Given the description of an element on the screen output the (x, y) to click on. 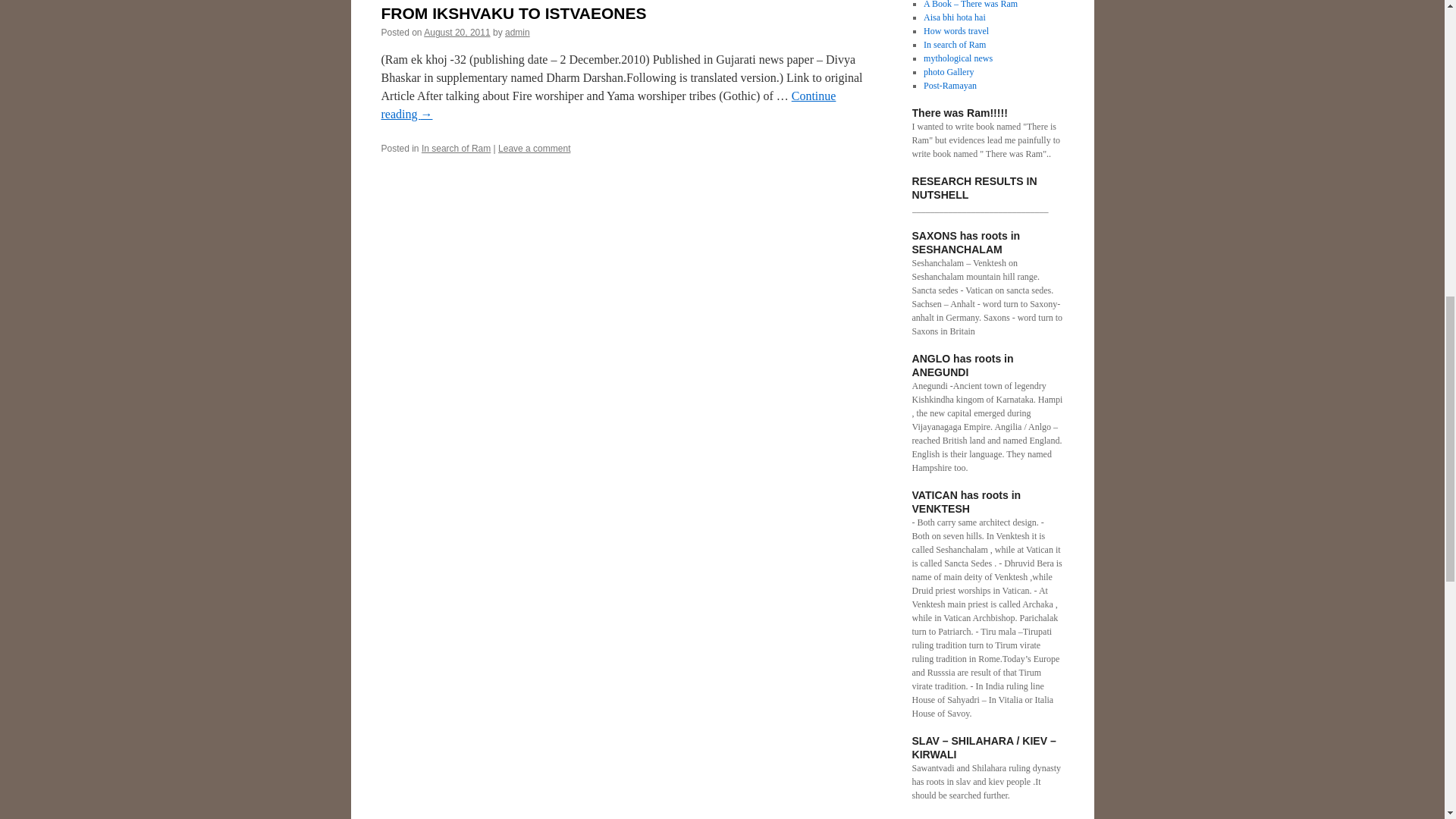
In search of Ram (456, 148)
Post Ramayan (949, 85)
FROM IKSHVAKU TO ISTVAEONES (513, 13)
aisa bhi hota hai by chandrakant marwadi (954, 17)
admin (517, 32)
photo gallery (948, 71)
photo Gallery (948, 71)
In search of Ram (954, 44)
Post-Ramayan (949, 85)
August 20, 2011 (456, 32)
Aisa bhi hota hai (954, 17)
View all posts by admin (517, 32)
There was Ram book by chandrakant marwadi (970, 4)
Leave a comment (533, 148)
